Given the description of an element on the screen output the (x, y) to click on. 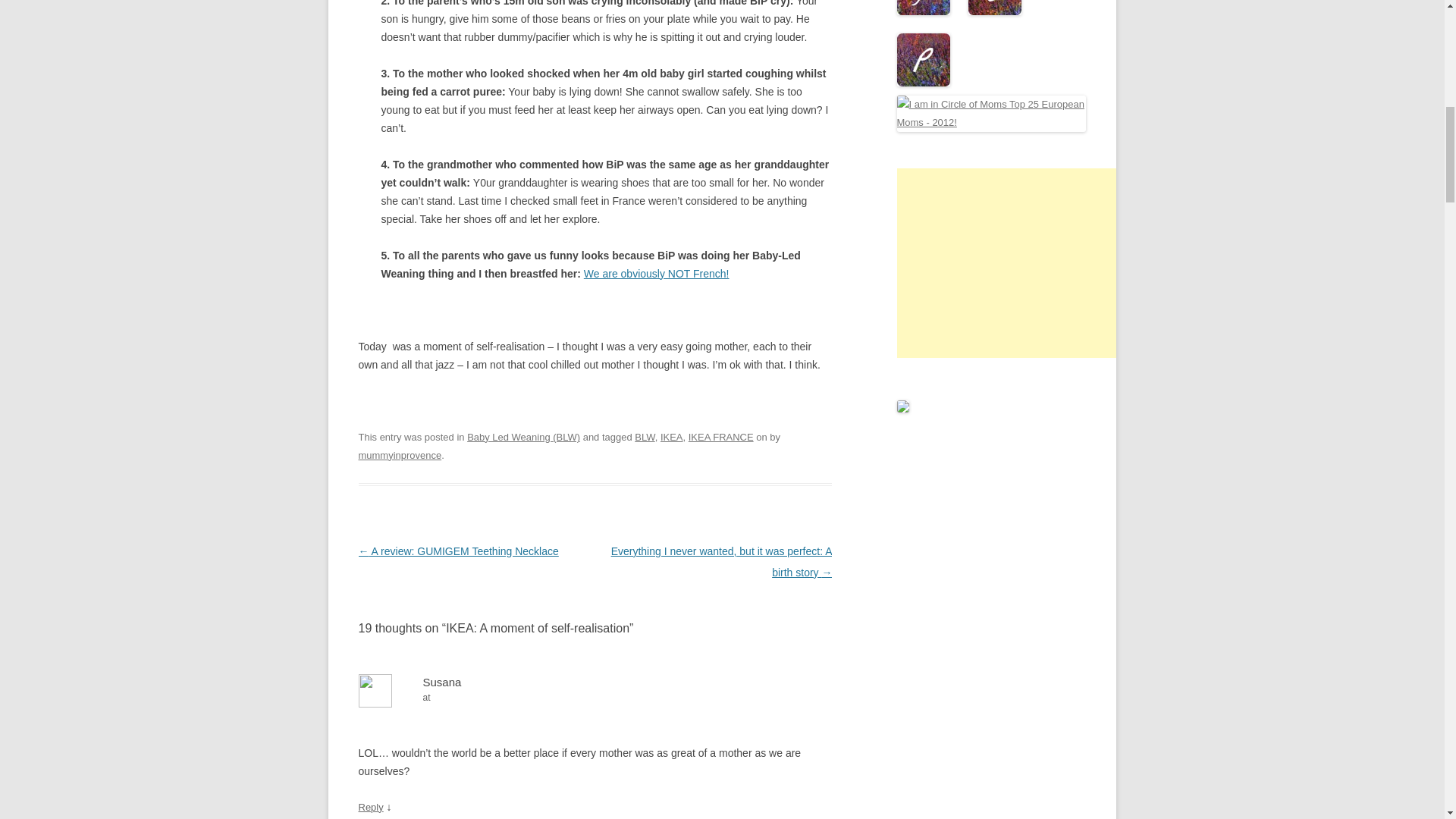
at (594, 697)
I am in Circle of Moms Top 25 European Moms - 2012! (991, 113)
Reply (370, 807)
View all posts by mummyinprovence (399, 455)
mummyinprovence (399, 455)
BLW (643, 437)
Advertisement (1010, 262)
IKEA (671, 437)
I'm in Circle of Moms Top 25 European Moms - 2012 (991, 122)
IKEA FRANCE (721, 437)
We are obviously NOT French! (656, 273)
